Given the description of an element on the screen output the (x, y) to click on. 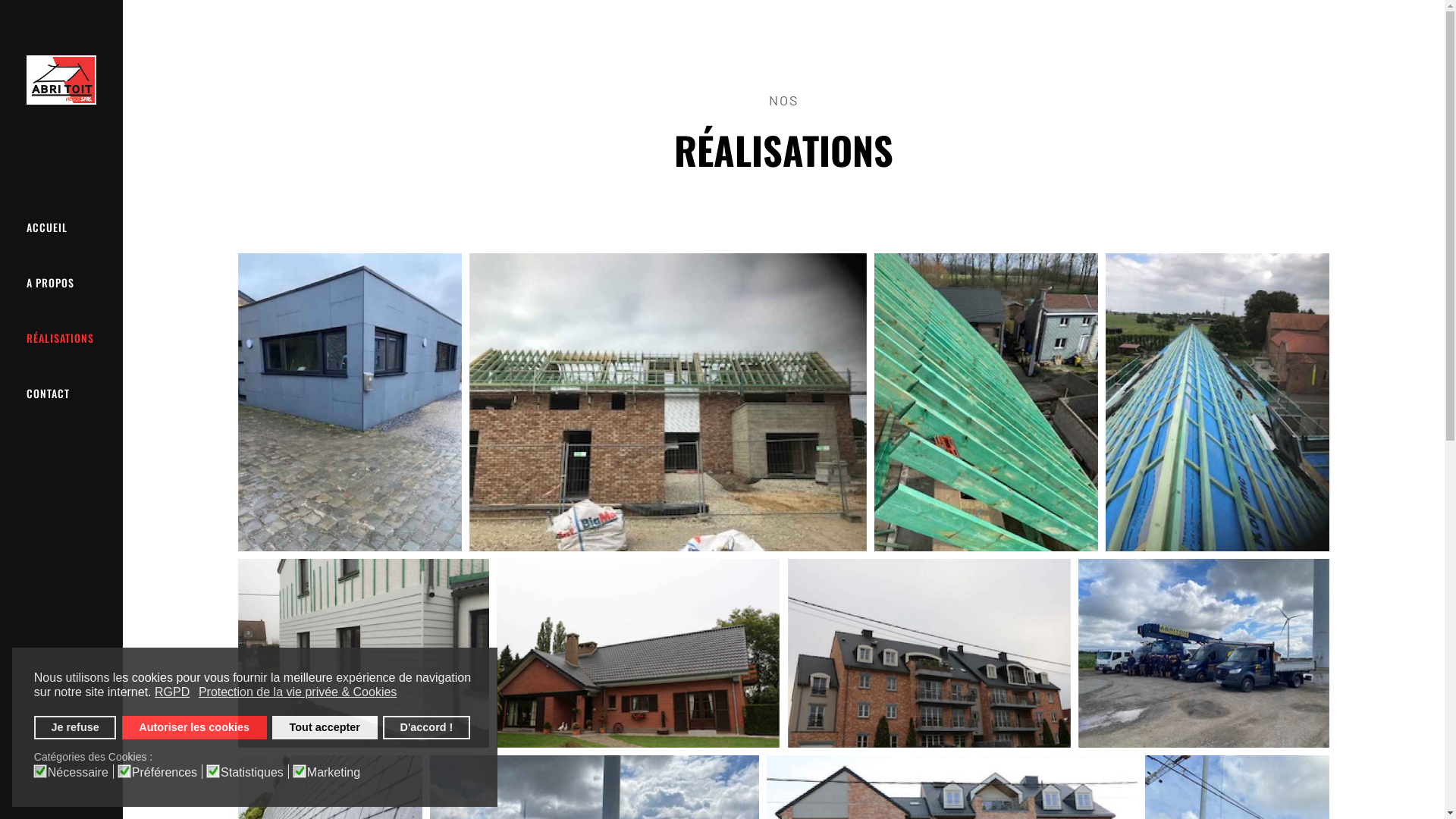
Tout accepter Element type: text (324, 727)
CONTACT Element type: text (47, 393)
Autoriser les cookies Element type: text (194, 727)
RGPD Element type: text (172, 692)
Statistiques Element type: text (254, 771)
A PROPOS Element type: text (50, 282)
ACCUEIL Element type: text (46, 227)
D'accord ! Element type: text (426, 727)
Marketing Element type: text (335, 771)
Je refuse Element type: text (75, 727)
